Given the description of an element on the screen output the (x, y) to click on. 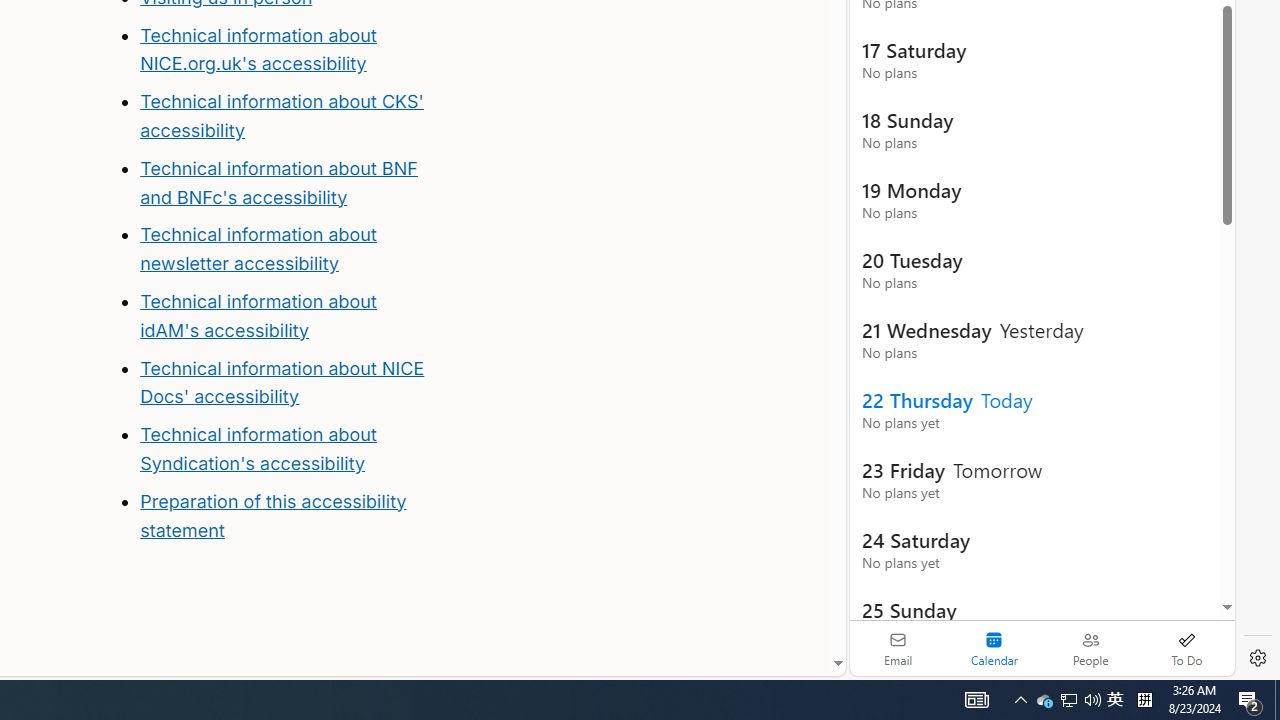
Technical information about Syndication's accessibility (258, 448)
Technical information about NICE.org.uk's accessibility (258, 48)
Technical information about NICE Docs' accessibility (281, 382)
Technical information about newsletter accessibility (258, 249)
Preparation of this accessibility statement (287, 515)
Technical information about idAM's accessibility (258, 315)
